Given the description of an element on the screen output the (x, y) to click on. 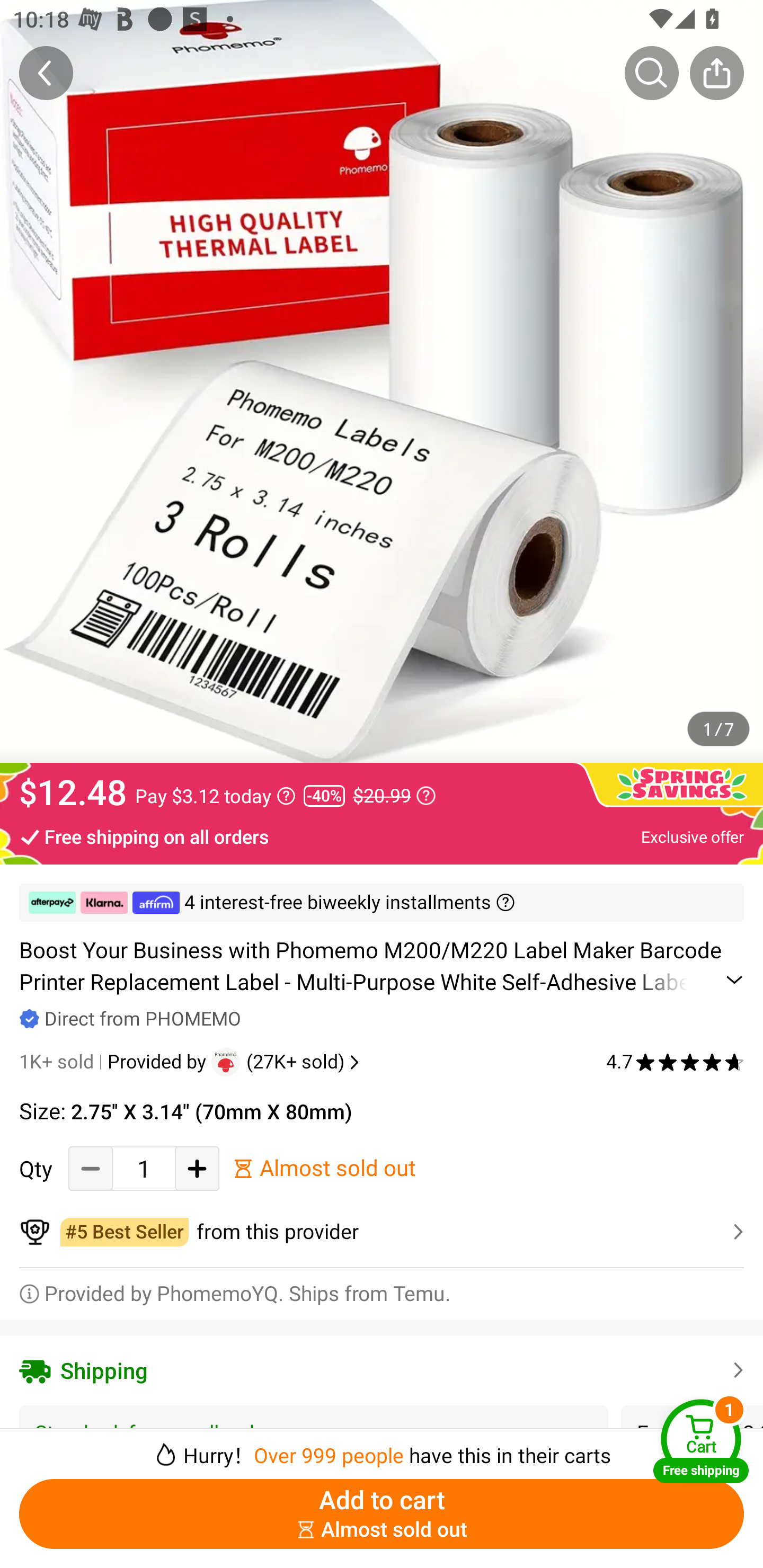
Back (46, 72)
Share (716, 72)
Pay $3.12 today   (215, 795)
Free shipping on all orders Exclusive offer (381, 836)
￼ ￼ ￼ 4 interest-free biweekly installments ￼ (381, 902)
1K+ sold Provided by  (115, 1061)
4.7 (674, 1061)
Decrease Quantity Button (90, 1168)
1 (143, 1168)
Add Quantity button (196, 1168)
￼￼from this provider (381, 1231)
Shipping (381, 1369)
Cart Free shipping Cart (701, 1440)
￼￼Hurry！Over 999 people have this in their carts (381, 1448)
Add to cart ￼￼Almost sold out (381, 1513)
